Given the description of an element on the screen output the (x, y) to click on. 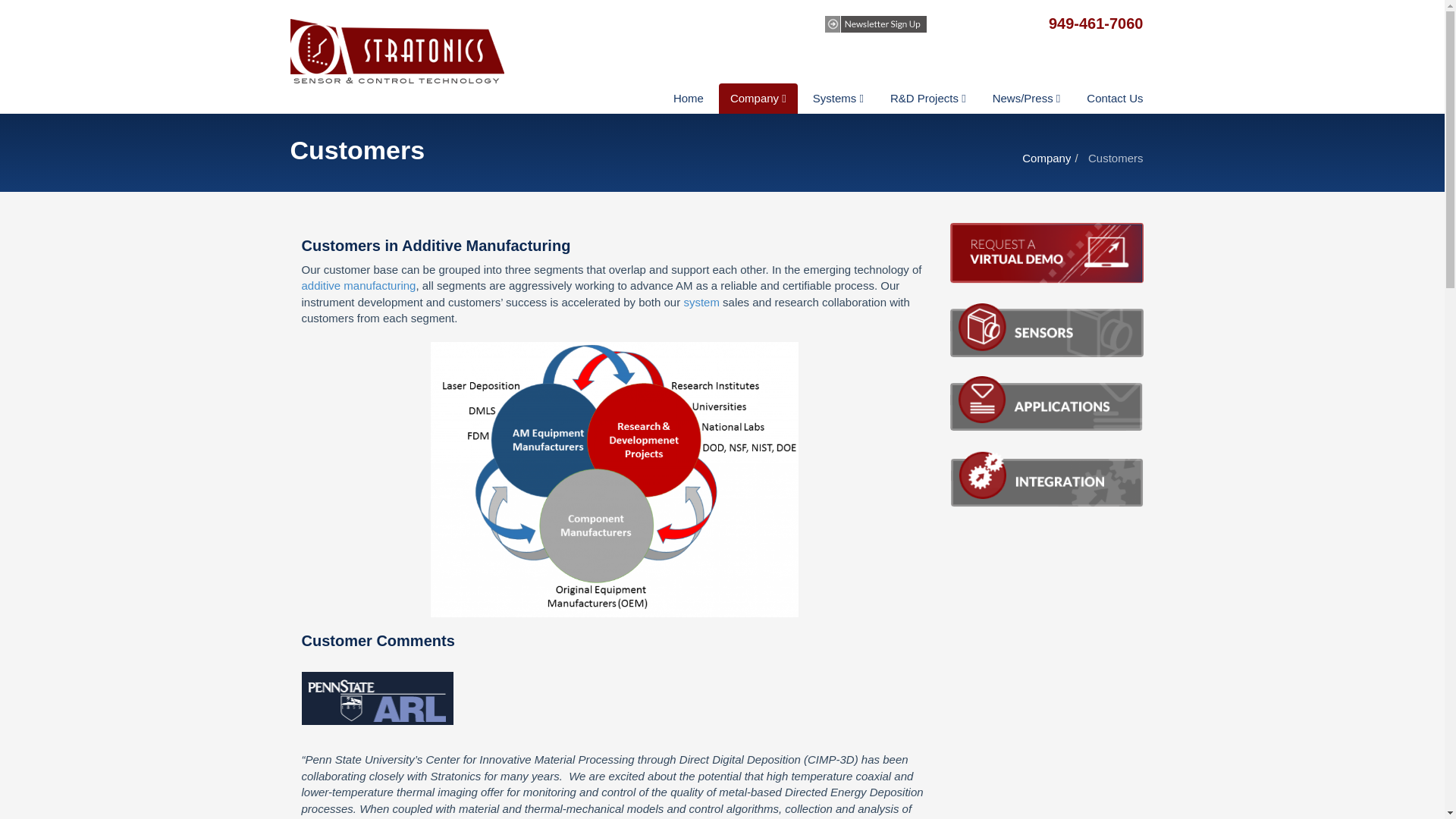
Company (758, 98)
Home (688, 98)
additive manufacturing (358, 285)
Company (1046, 157)
Home (688, 98)
Contact Us (1114, 98)
Company (758, 98)
Systems (838, 98)
Systems (838, 98)
system (700, 301)
